Given the description of an element on the screen output the (x, y) to click on. 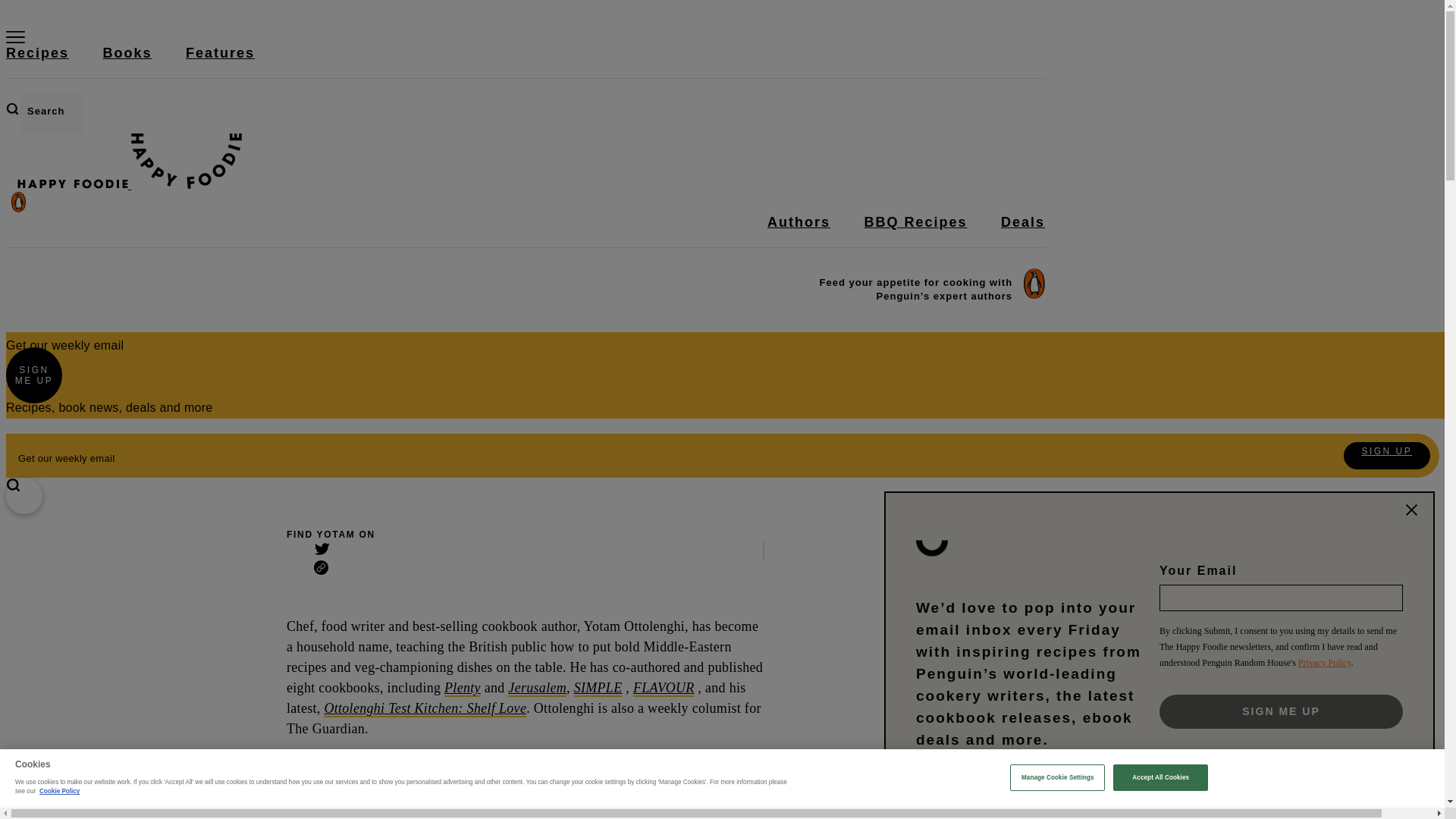
Features (220, 61)
Deals (1023, 231)
Books (127, 61)
Authors (798, 231)
Sign me up (1280, 711)
Recipes (36, 61)
BBQ Recipes (914, 231)
